Given the description of an element on the screen output the (x, y) to click on. 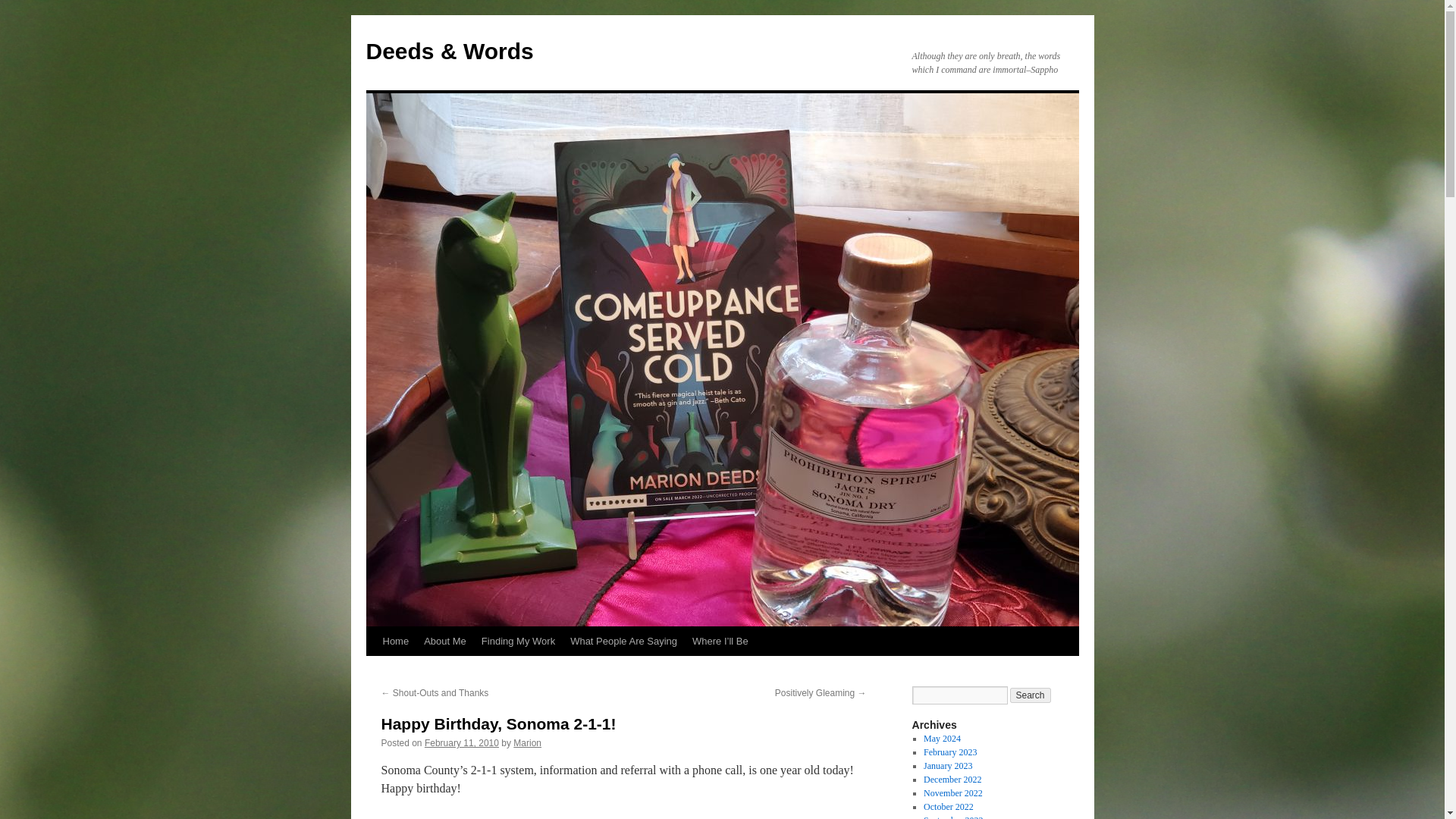
May 2024 (941, 738)
December 2022 (952, 778)
February 11, 2010 (462, 742)
6:00 am (462, 742)
What People Are Saying (623, 641)
About Me (445, 641)
Home (395, 641)
Marion (527, 742)
Finding My Work (518, 641)
View all posts by Marion (527, 742)
Search (1030, 694)
February 2023 (949, 751)
September 2022 (952, 816)
October 2022 (948, 806)
January 2023 (947, 765)
